Given the description of an element on the screen output the (x, y) to click on. 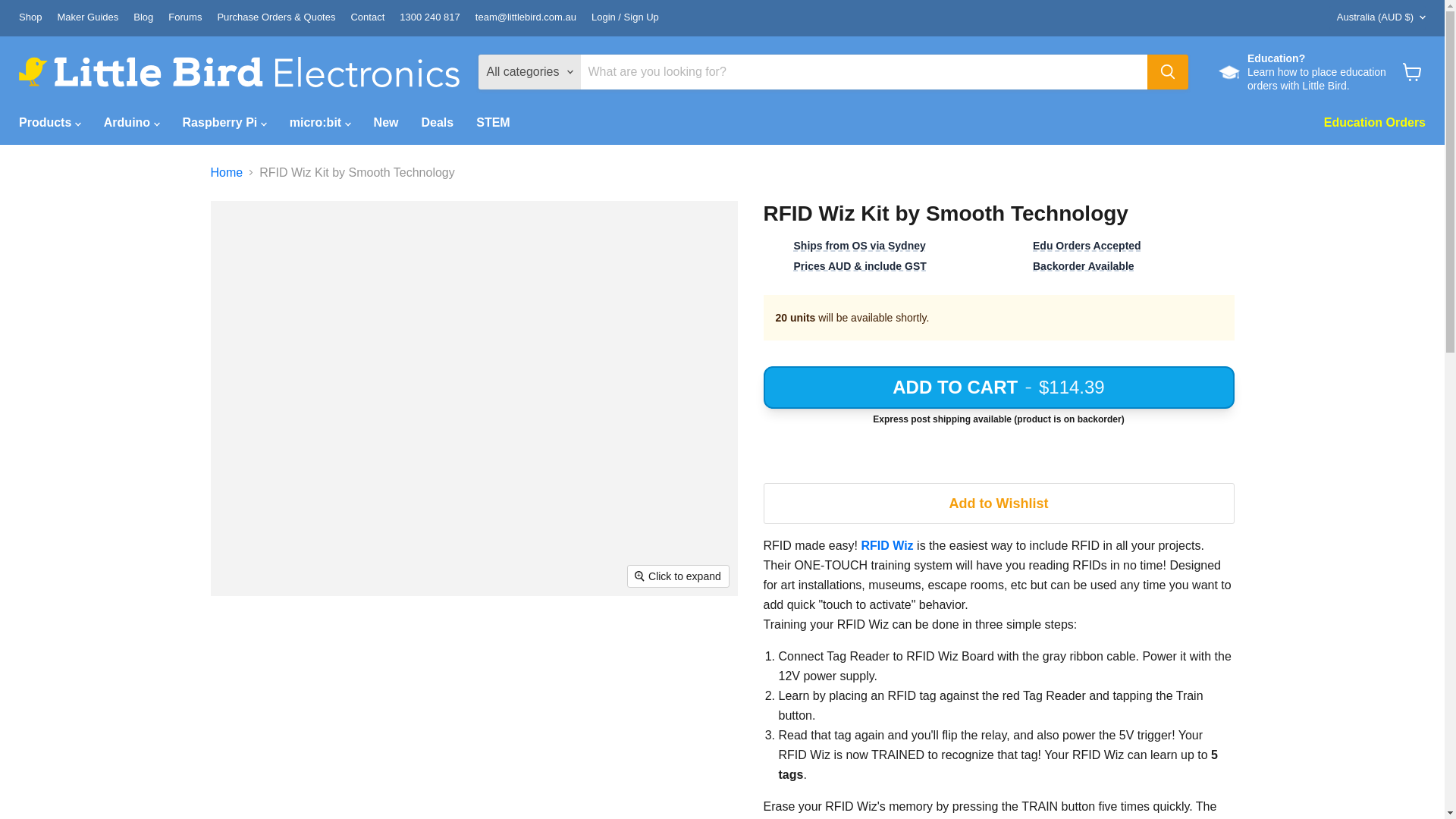
1300 240 817 (429, 17)
Contact (367, 17)
Shop (30, 17)
Maker Guides (86, 17)
Forums (185, 17)
Blog (142, 17)
